Given the description of an element on the screen output the (x, y) to click on. 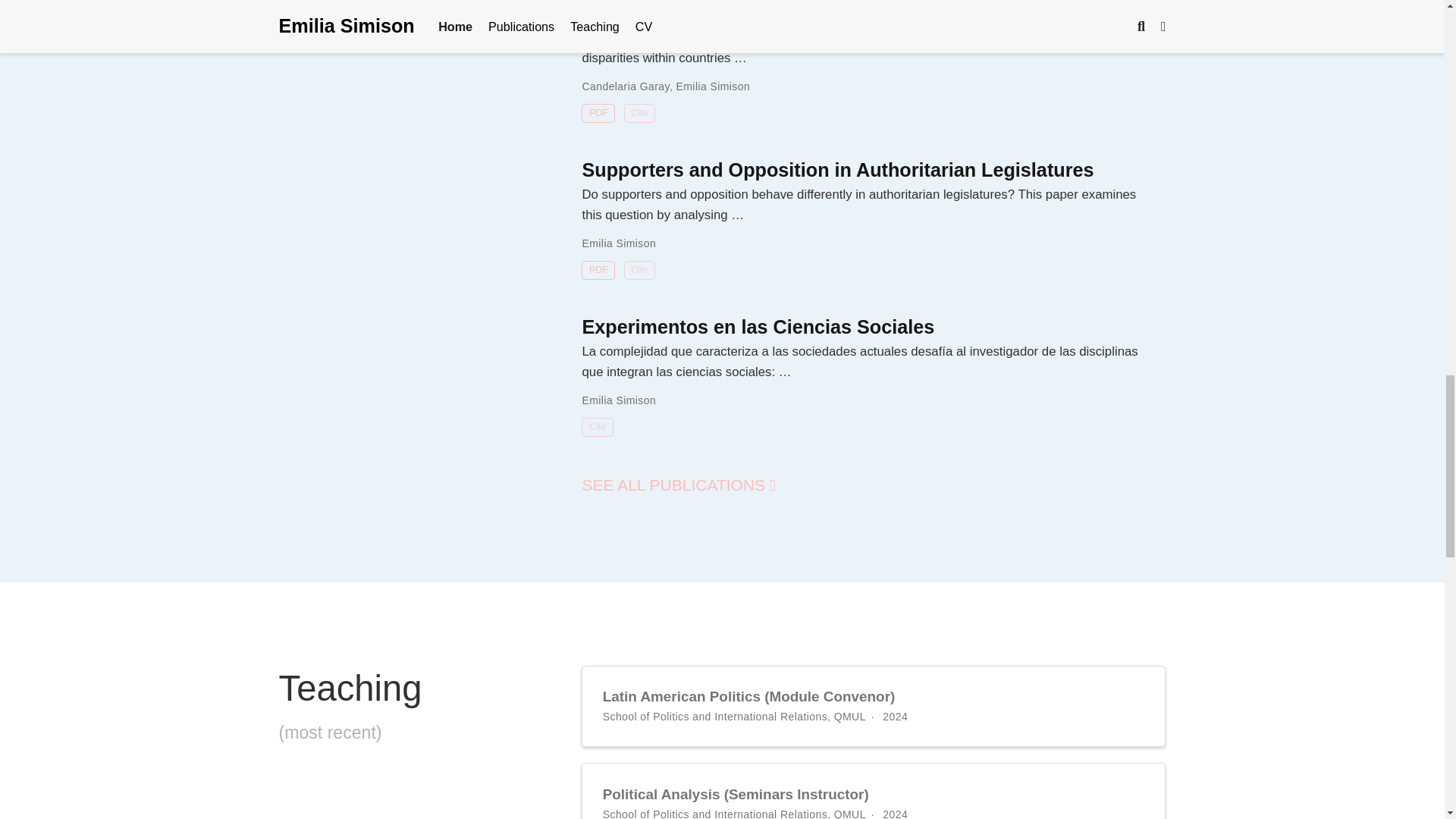
Candelaria Garay (624, 86)
When Mayors Deliver: Political Alignment and Well-being (839, 12)
Emilia Simison (714, 86)
